Given the description of an element on the screen output the (x, y) to click on. 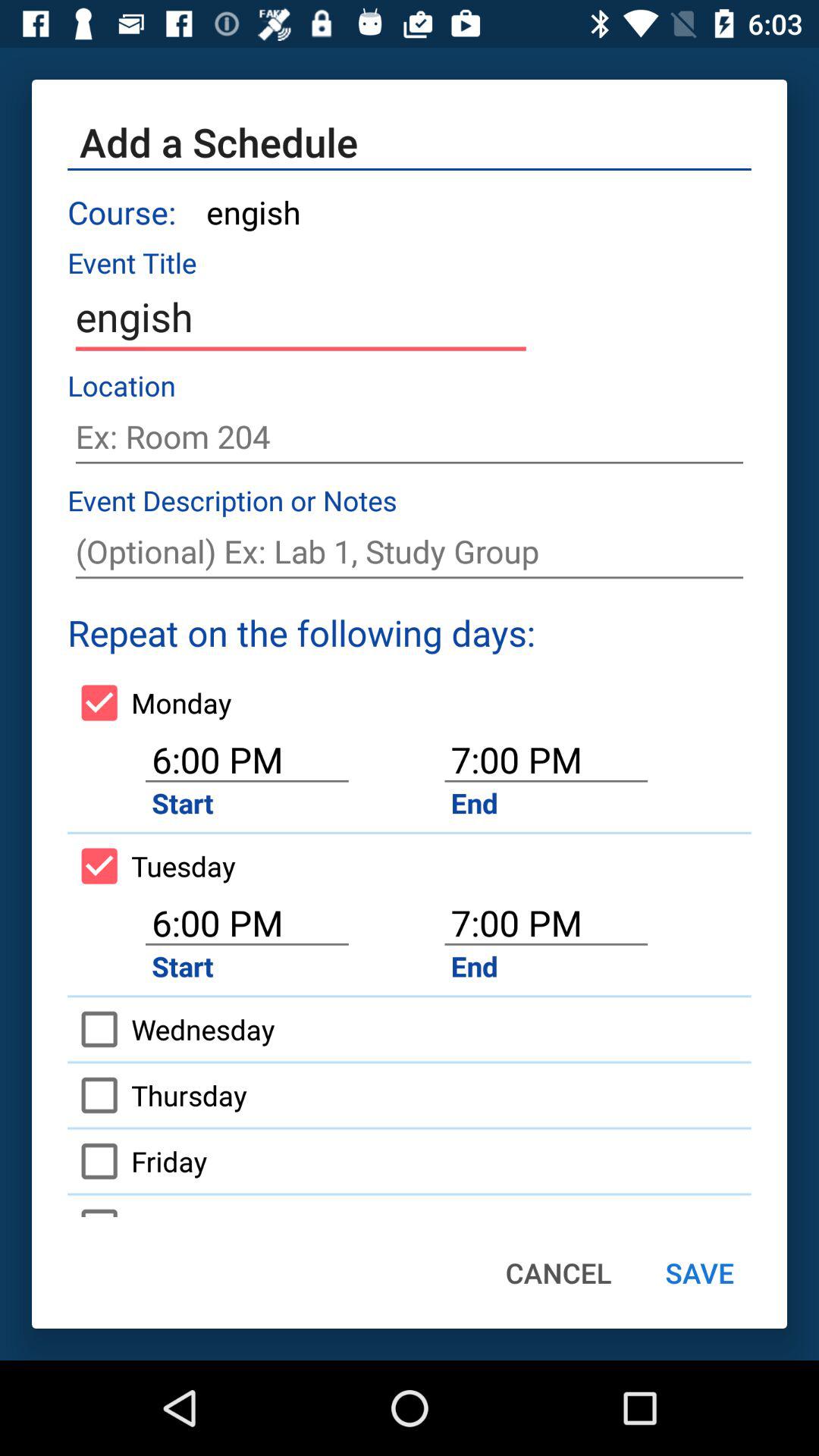
click icon above event description or item (409, 436)
